Given the description of an element on the screen output the (x, y) to click on. 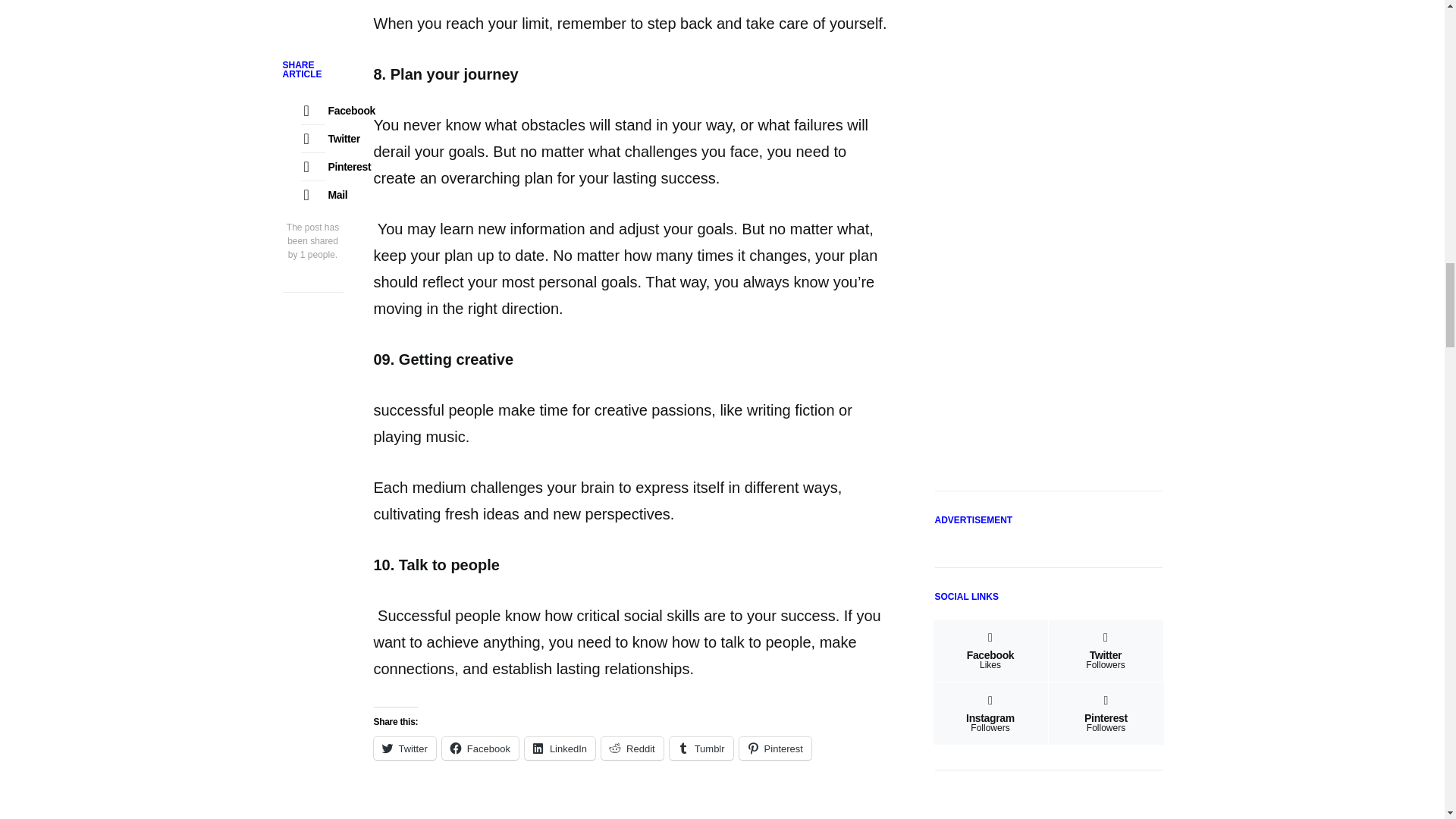
Click to share on Reddit (632, 748)
Click to share on LinkedIn (559, 748)
Click to share on Tumblr (701, 748)
Click to share on Facebook (480, 748)
Click to share on Twitter (403, 748)
Click to share on Pinterest (774, 748)
